Given the description of an element on the screen output the (x, y) to click on. 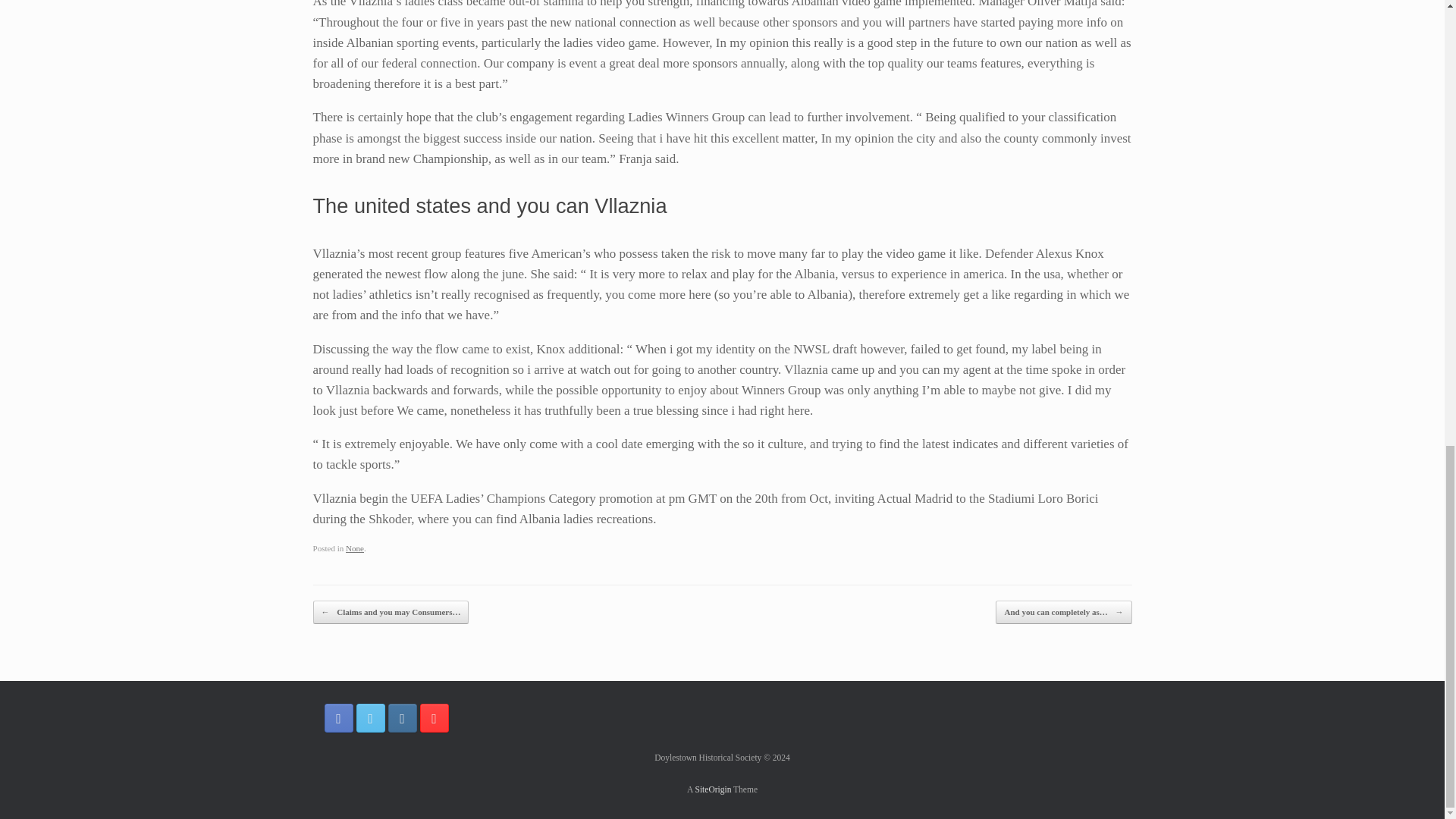
Doylestown Historical Society YouTube (434, 717)
Doylestown Historical Society Facebook (338, 717)
Doylestown Historical Society Instagram (402, 717)
